Given the description of an element on the screen output the (x, y) to click on. 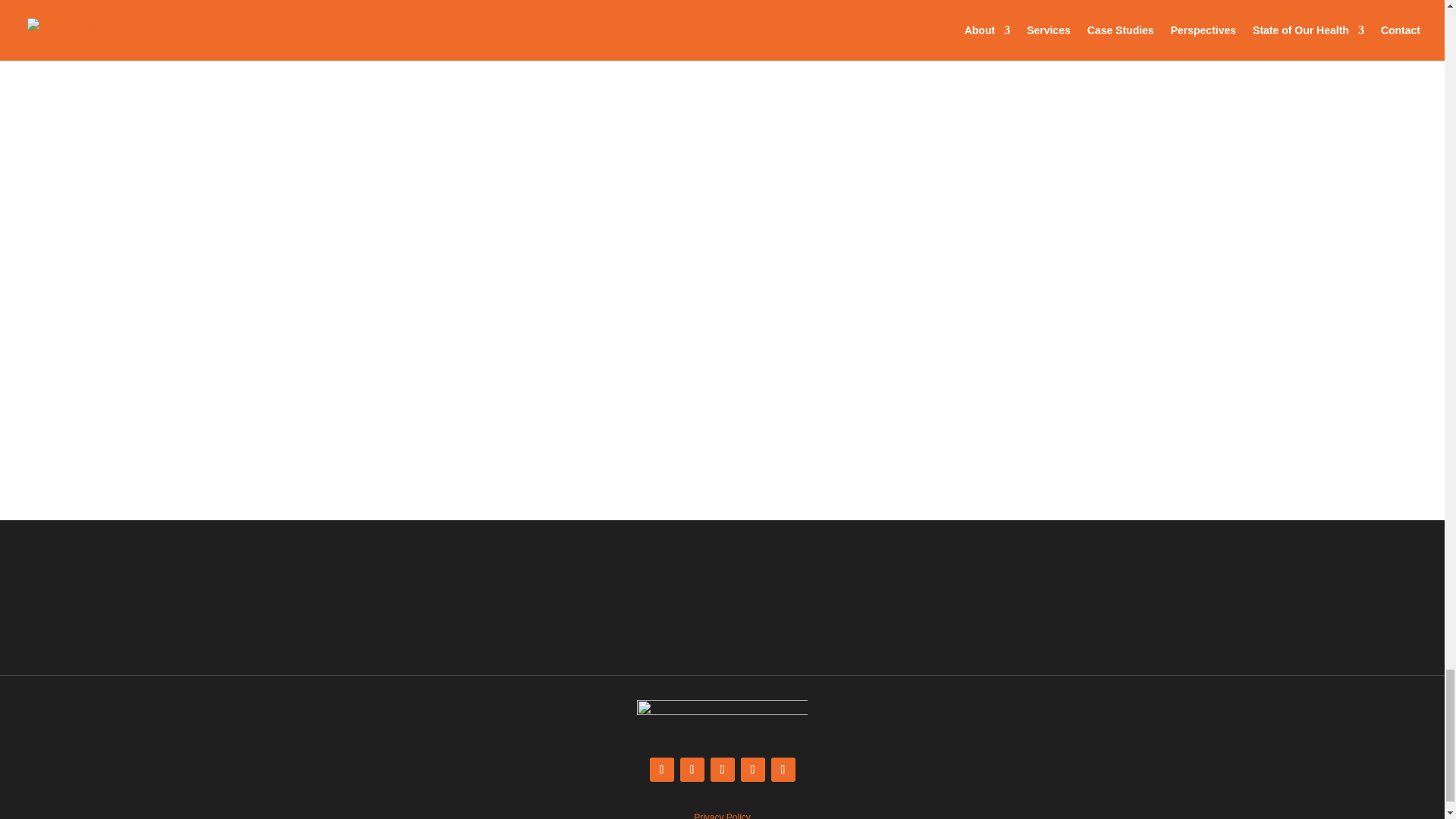
Follow on Facebook (691, 769)
Follow on LinkedIn (721, 769)
Follow on Instagram (782, 769)
Privacy Policy (722, 815)
Follow on X (660, 769)
Follow on Youtube (751, 769)
